Given the description of an element on the screen output the (x, y) to click on. 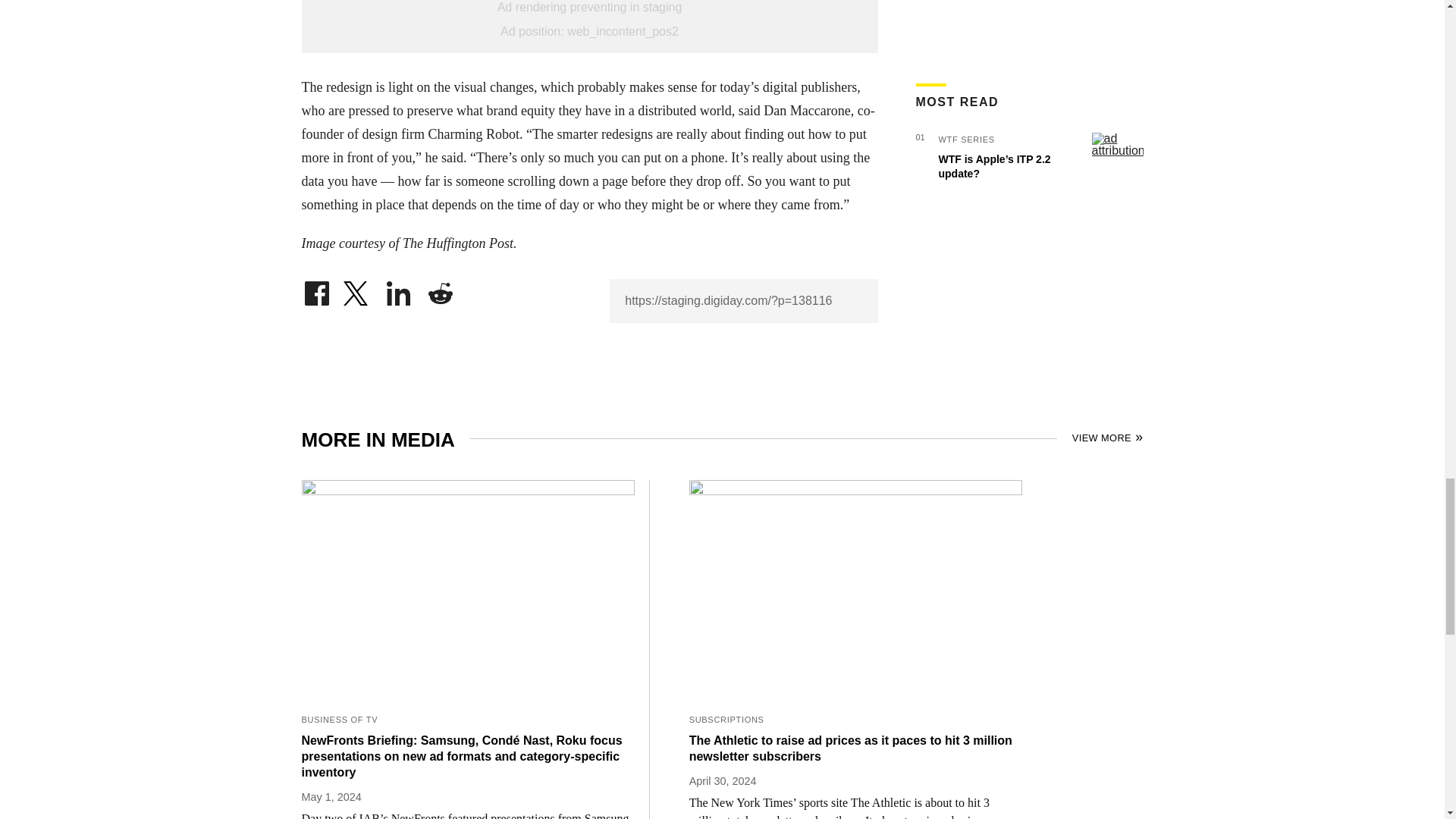
Share on LinkedIn (398, 289)
Share on Twitter (357, 289)
Share on Facebook (316, 289)
Share on Reddit (440, 289)
